Given the description of an element on the screen output the (x, y) to click on. 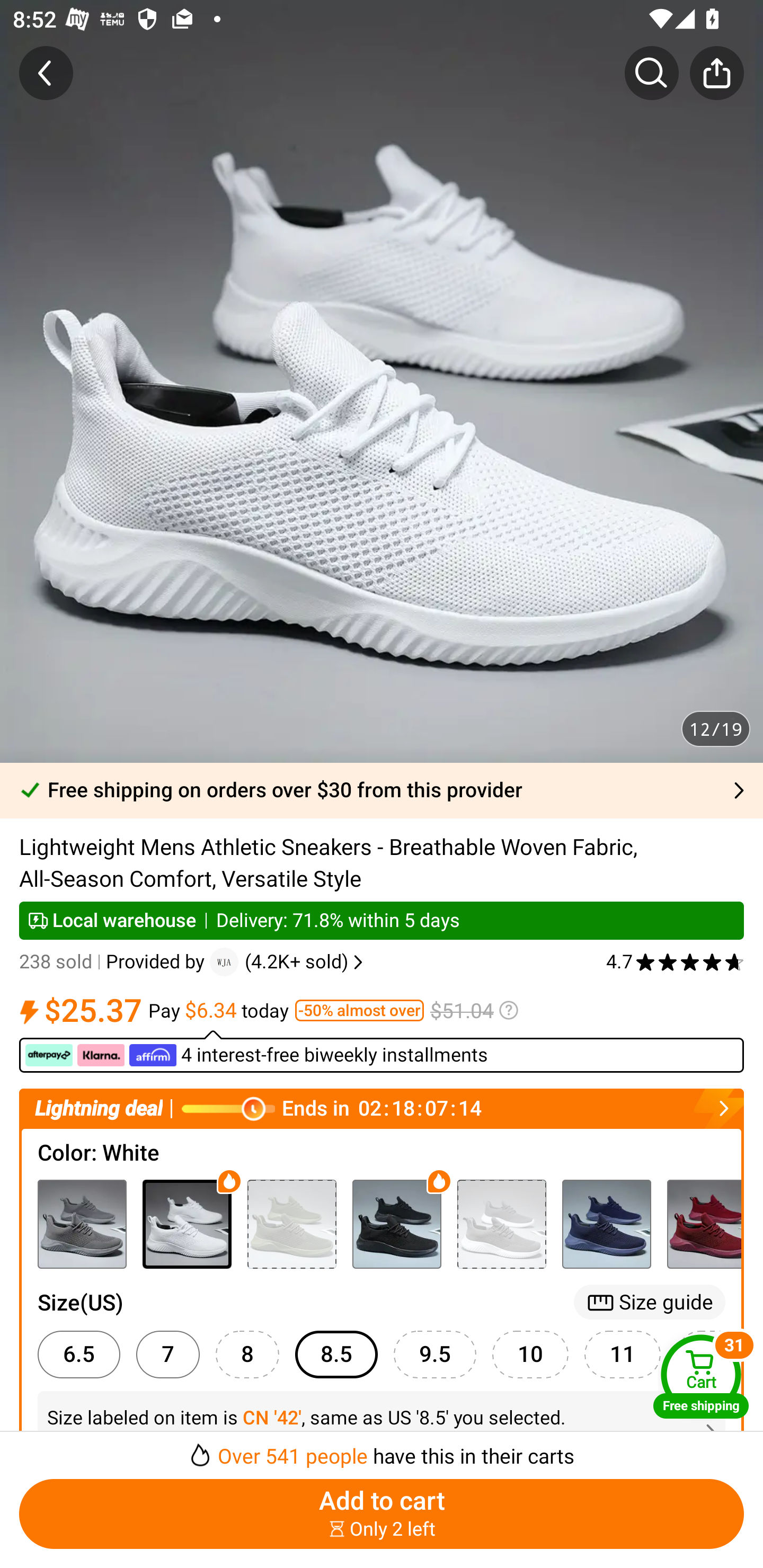
Back (46, 72)
Share (716, 72)
Local warehouse Delivery: 71.8% within 5 days (381, 920)
238 sold Provided by  (114, 961)
4.7 (674, 961)
￼ ￼ ￼ 4 interest-free biweekly installments (381, 1051)
Lightning deal Ends in￼￼ (381, 1108)
grey (81, 1223)
White (186, 1223)
Army Green (291, 1223)
Full Black (396, 1223)
Gray White (501, 1223)
Dark Blue (606, 1223)
Burgundy (703, 1223)
 Size guide (649, 1302)
6.5 (78, 1354)
7 (167, 1354)
8 (247, 1354)
8.5 (336, 1354)
9.5 (434, 1354)
10 (530, 1354)
11 (622, 1354)
Cart Free shipping Cart (701, 1375)
Add to cart ￼￼Only 2 left (381, 1513)
